Given the description of an element on the screen output the (x, y) to click on. 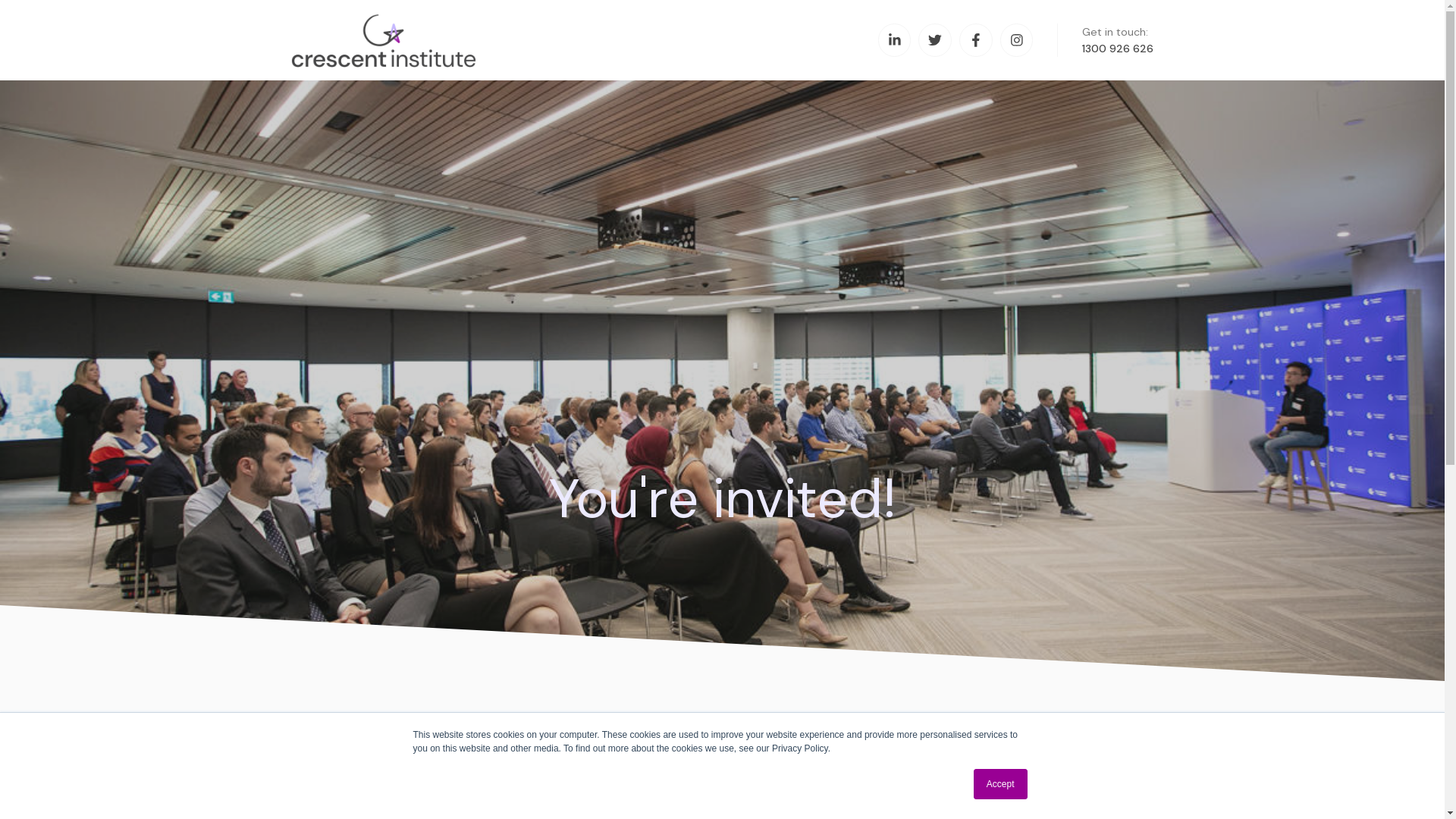
Accept Element type: text (1000, 783)
CI-logo-dark Element type: hover (428, 40)
1300 926 626 Element type: text (1117, 48)
